Given the description of an element on the screen output the (x, y) to click on. 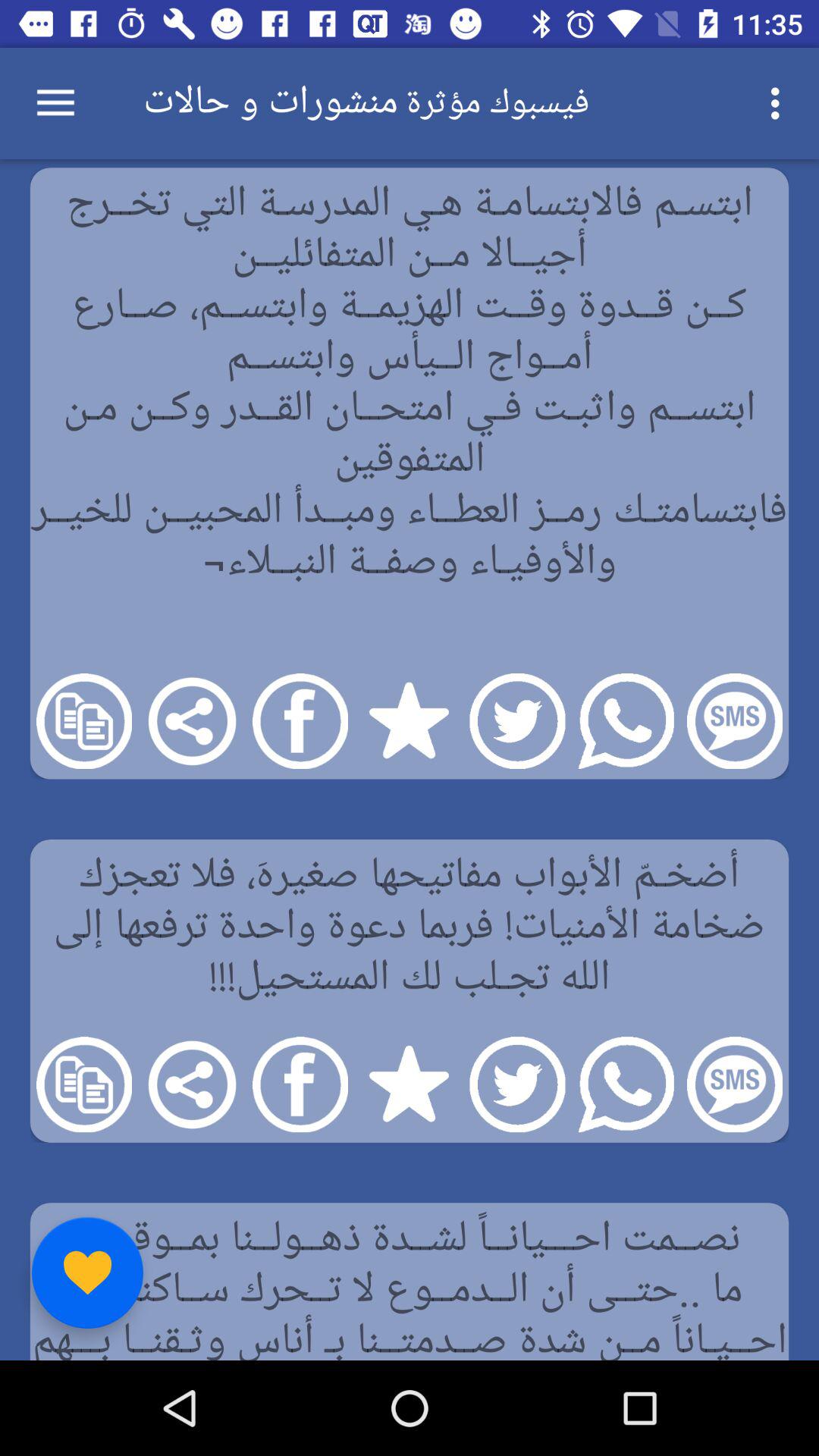
select the item at the top right corner (779, 103)
